Given the description of an element on the screen output the (x, y) to click on. 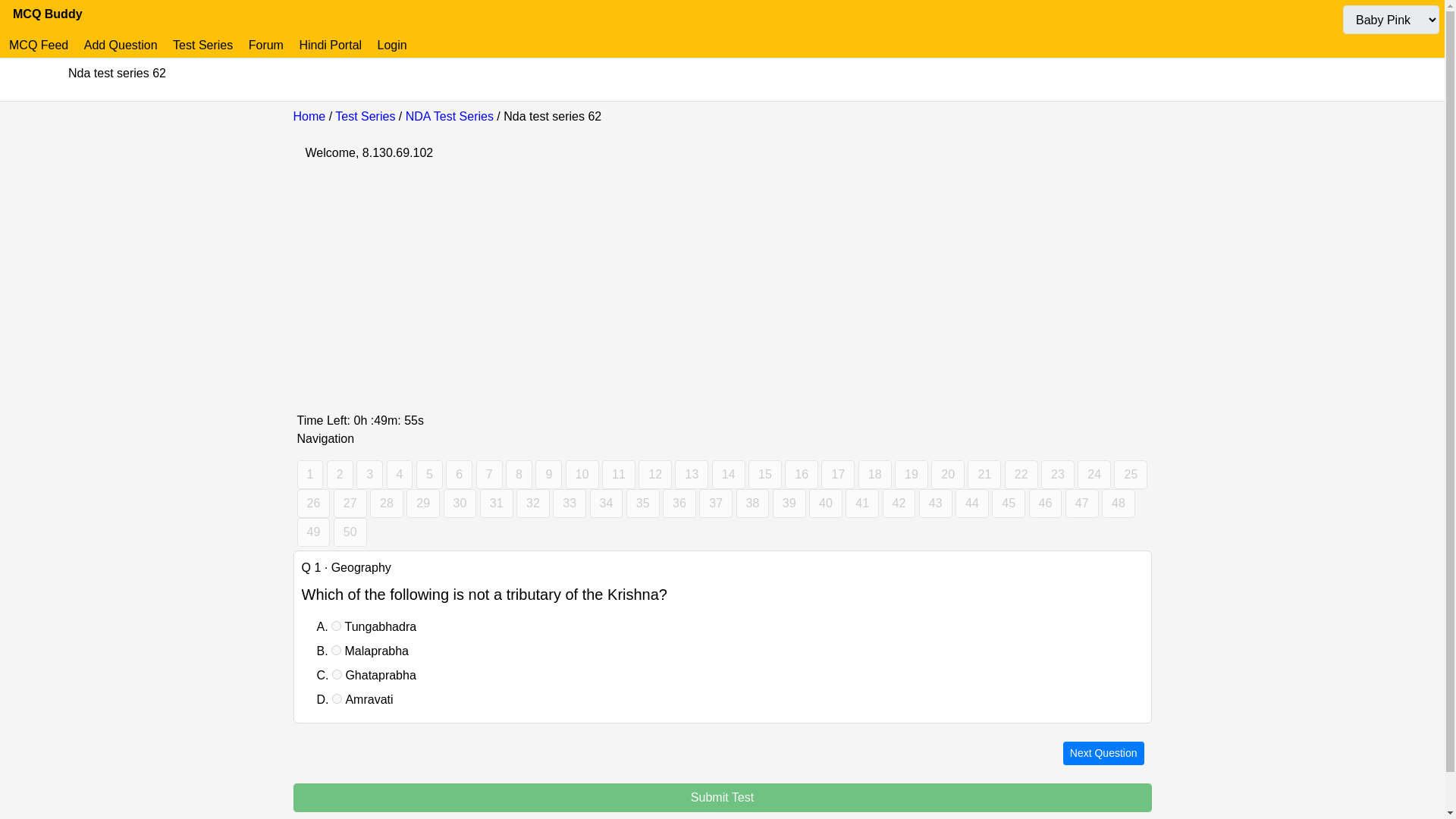
Test Series (202, 44)
10 (582, 474)
B (335, 650)
22 (1021, 474)
5 (429, 474)
7 (489, 474)
C (336, 674)
28 (386, 502)
4 (400, 474)
2 (339, 474)
